Given the description of an element on the screen output the (x, y) to click on. 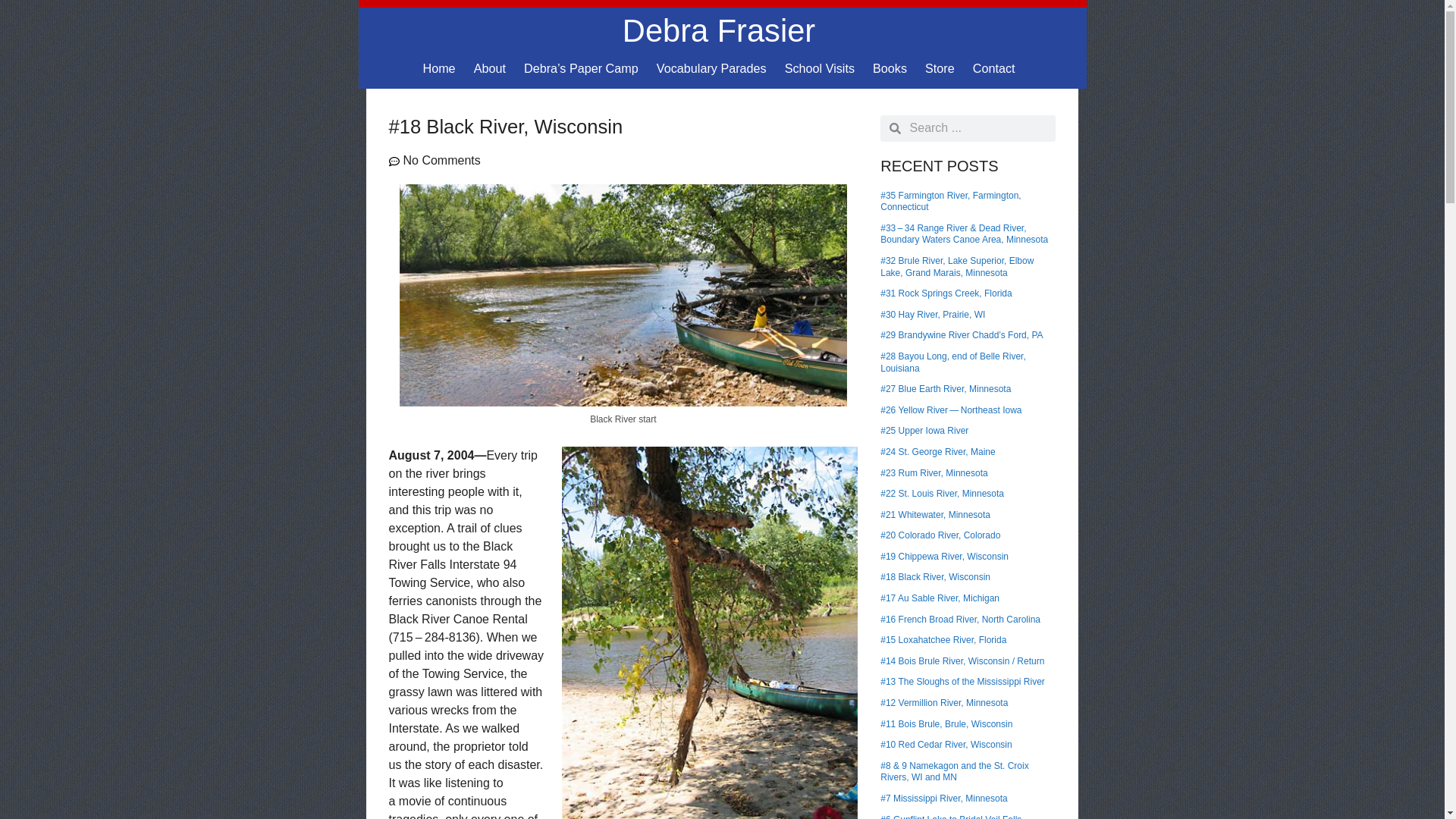
No Comments (434, 160)
Contact (994, 67)
School Visits (819, 67)
About (489, 67)
Home (438, 67)
Store (939, 67)
Vocabulary Parades (711, 67)
Debra Frasier (719, 30)
Books (889, 67)
